Given the description of an element on the screen output the (x, y) to click on. 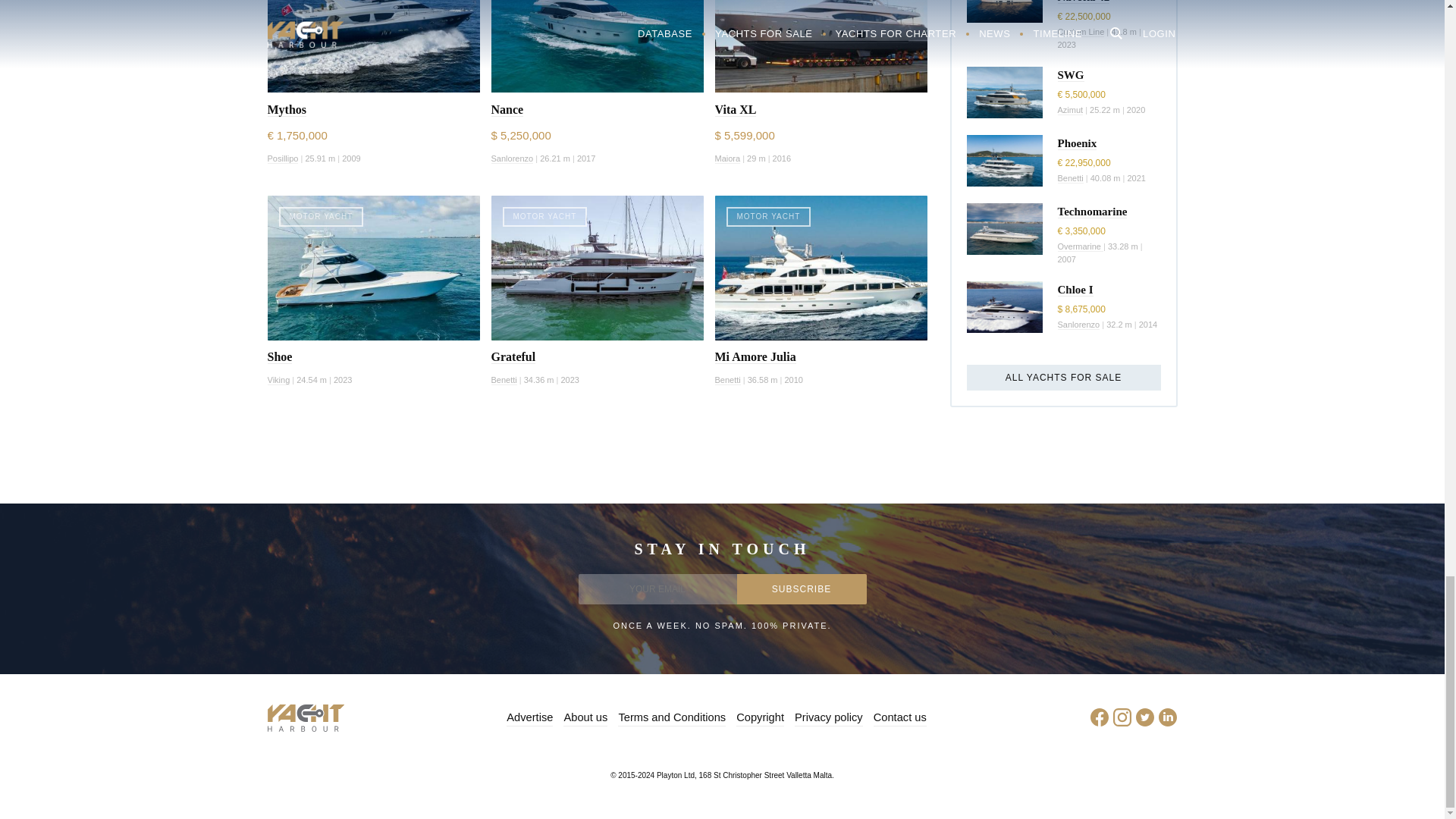
Nance (508, 110)
Sanlorenzo (513, 158)
Mythos (285, 110)
Subscribe (801, 589)
Posillipo (282, 158)
Vita XL (734, 110)
